Given the description of an element on the screen output the (x, y) to click on. 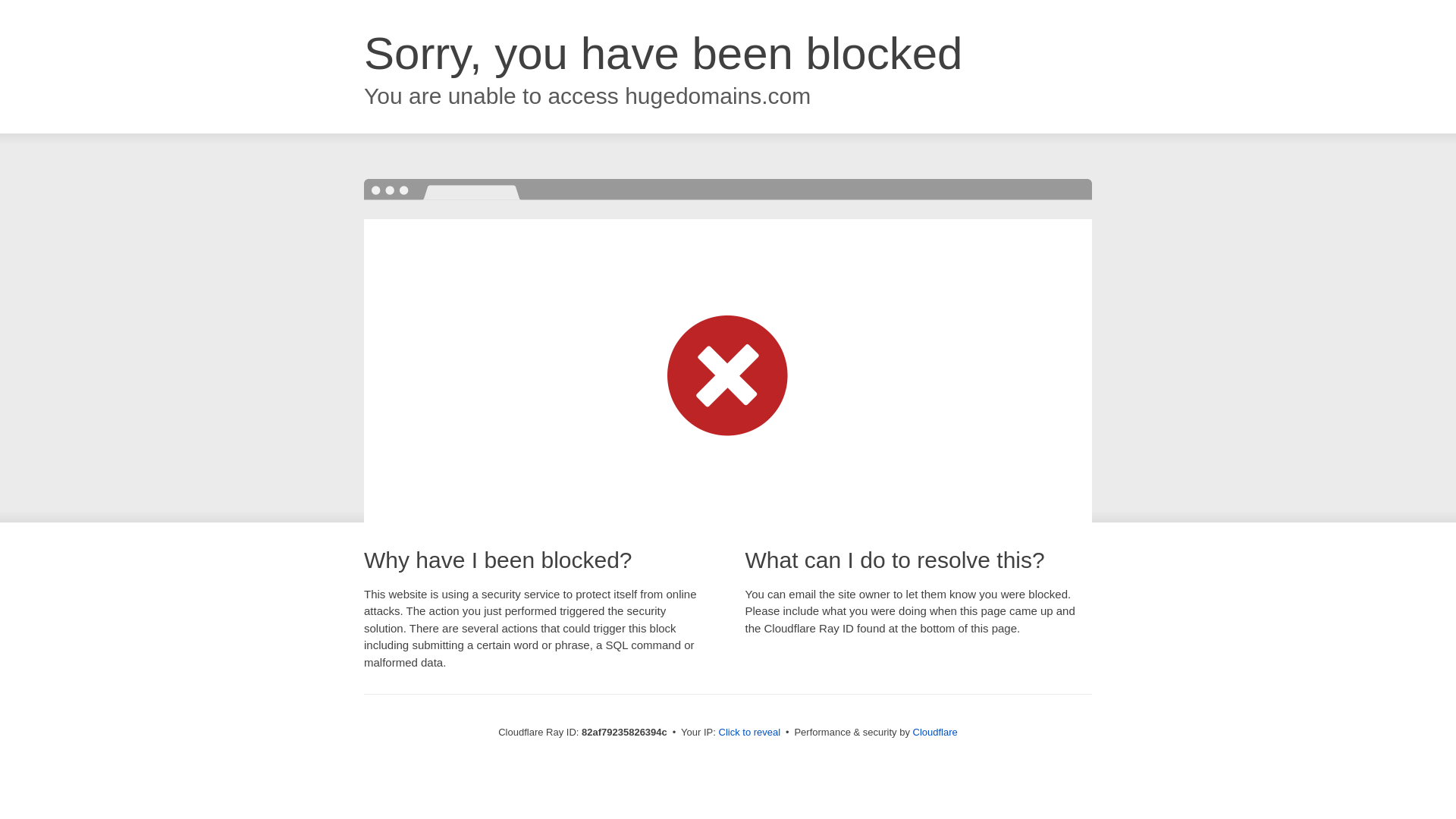
Cloudflare Element type: text (935, 731)
Click to reveal Element type: text (749, 732)
